Given the description of an element on the screen output the (x, y) to click on. 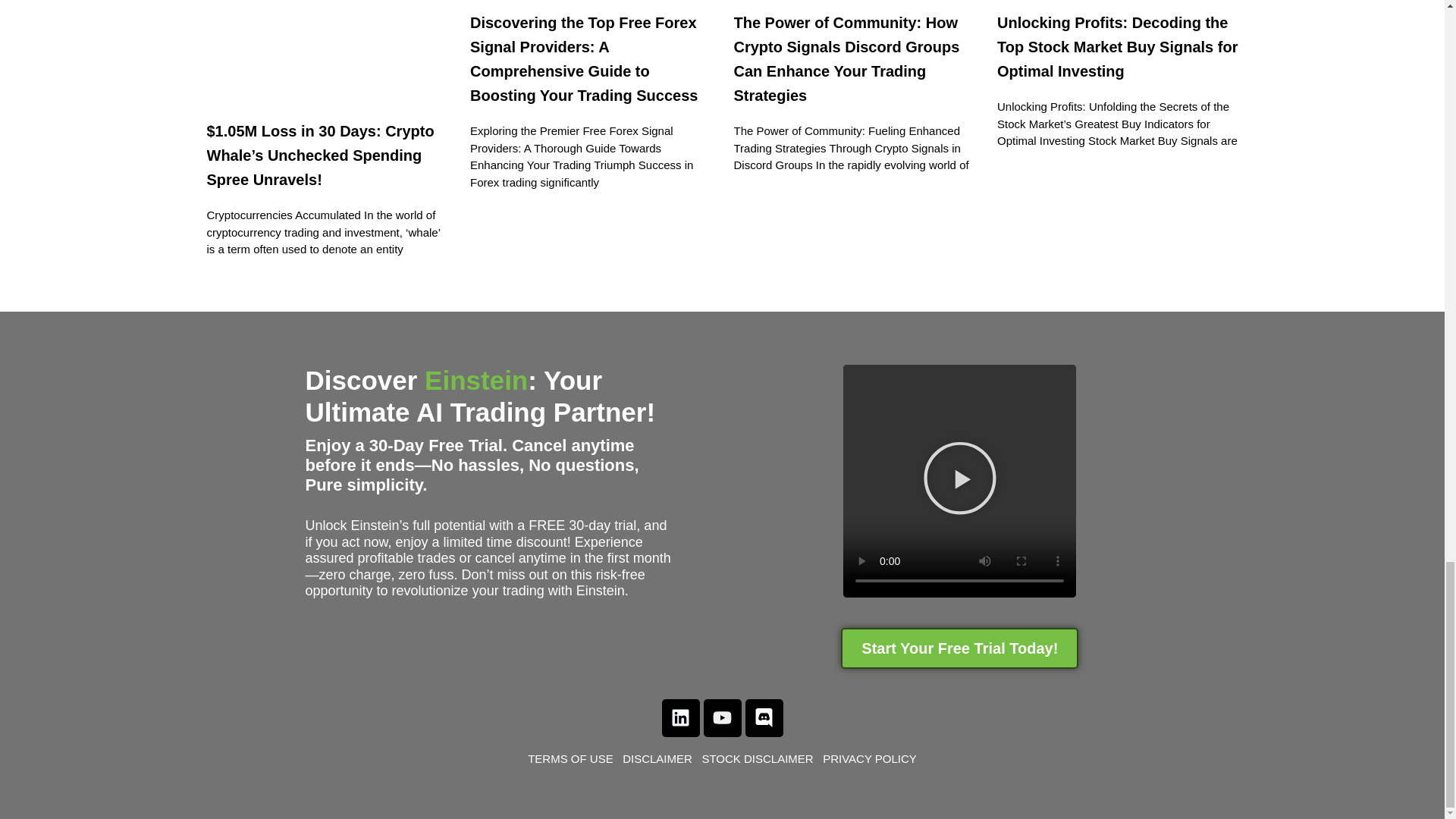
DISCLAIMER (658, 757)
Start Your Free Trial Today! (959, 647)
STOCK DISCLAIMER   (760, 757)
PRIVACY POLICY (869, 757)
TERMS OF USE    (575, 757)
